Given the description of an element on the screen output the (x, y) to click on. 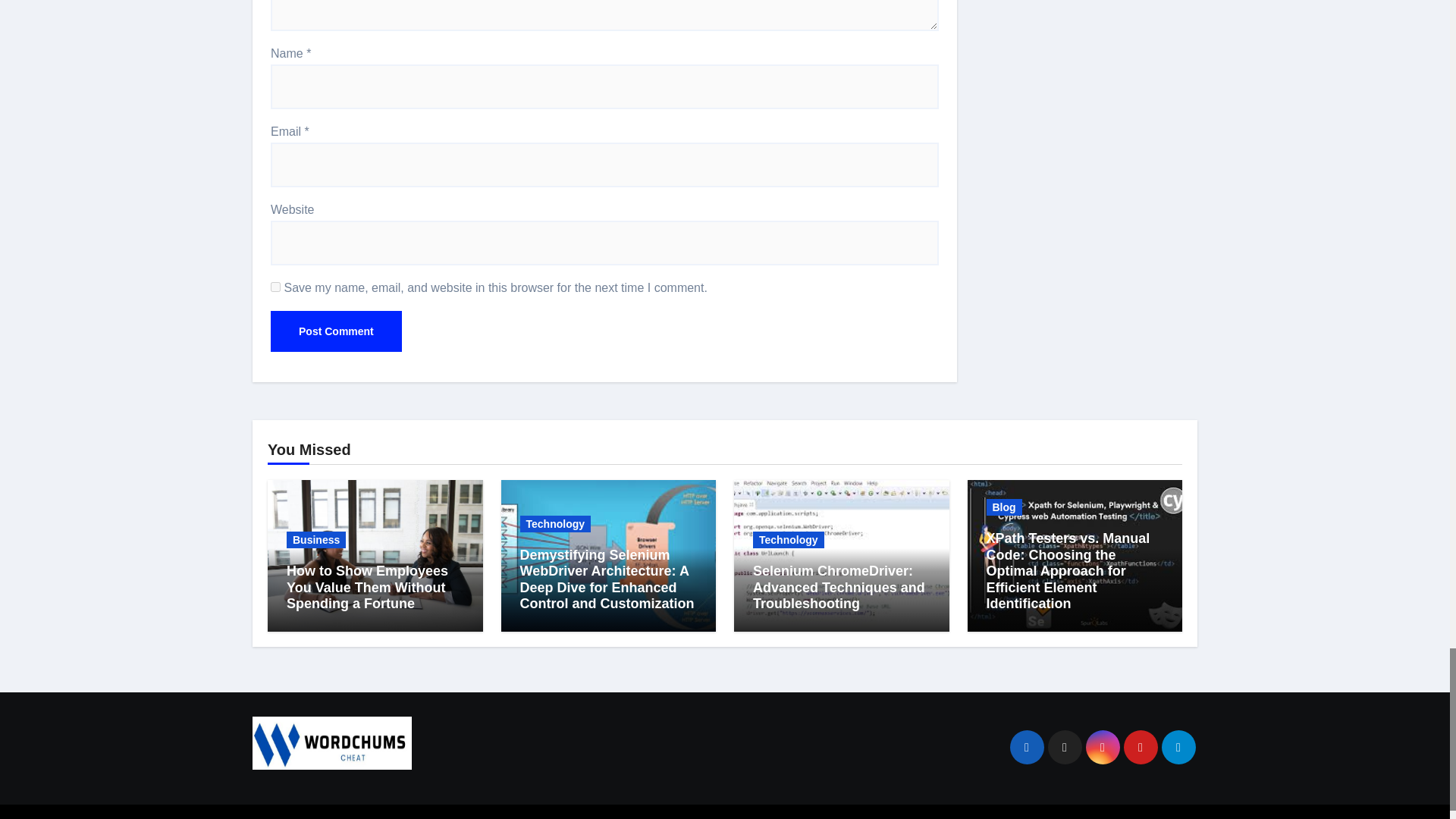
Post Comment (335, 331)
About Us (1020, 817)
Privacy Policy (942, 817)
yes (275, 286)
Contact us (1089, 817)
